Given the description of an element on the screen output the (x, y) to click on. 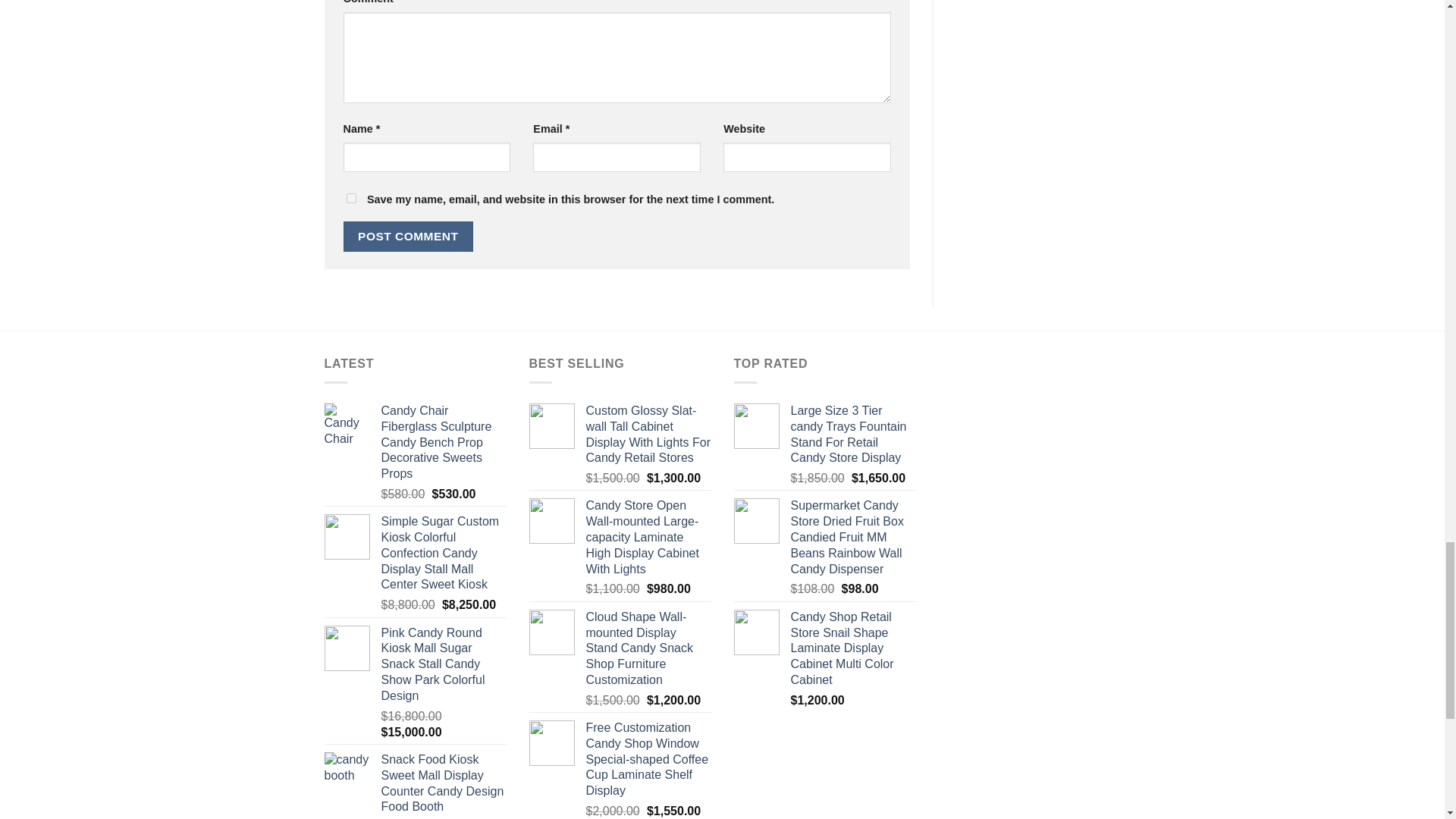
yes (350, 198)
Post Comment (407, 235)
